Given the description of an element on the screen output the (x, y) to click on. 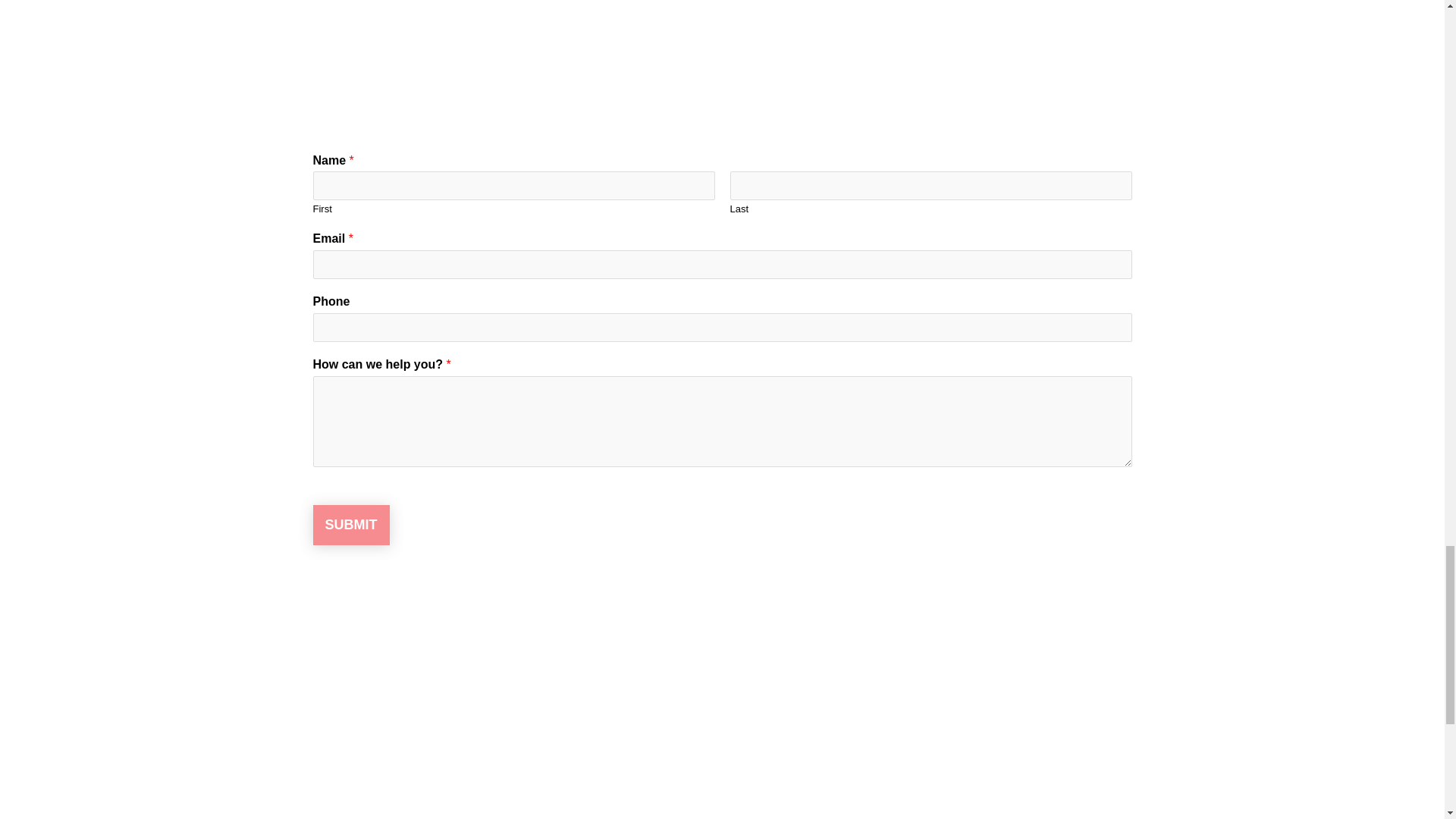
SUBMIT (350, 525)
